Given the description of an element on the screen output the (x, y) to click on. 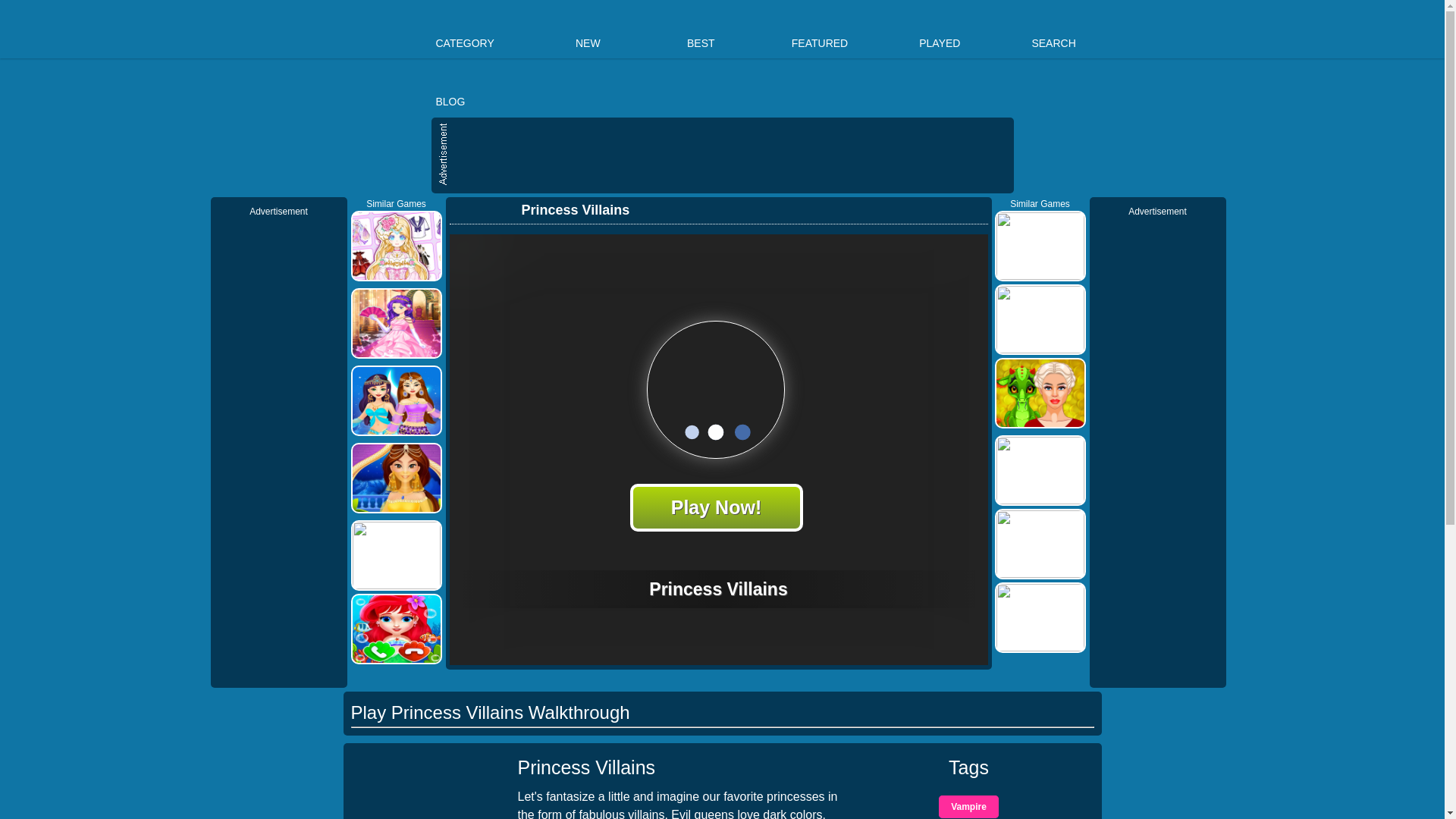
Replay this game (969, 210)
SEARCH (1053, 29)
Play Best Free Online Games (351, 36)
Vampire (968, 806)
NEW (587, 29)
Play game fullscreen (945, 210)
Princess Villains (564, 210)
CATEGORY (465, 29)
FEATURED (819, 29)
BLOG (450, 87)
BEST (700, 29)
PLAYED (939, 29)
